Given the description of an element on the screen output the (x, y) to click on. 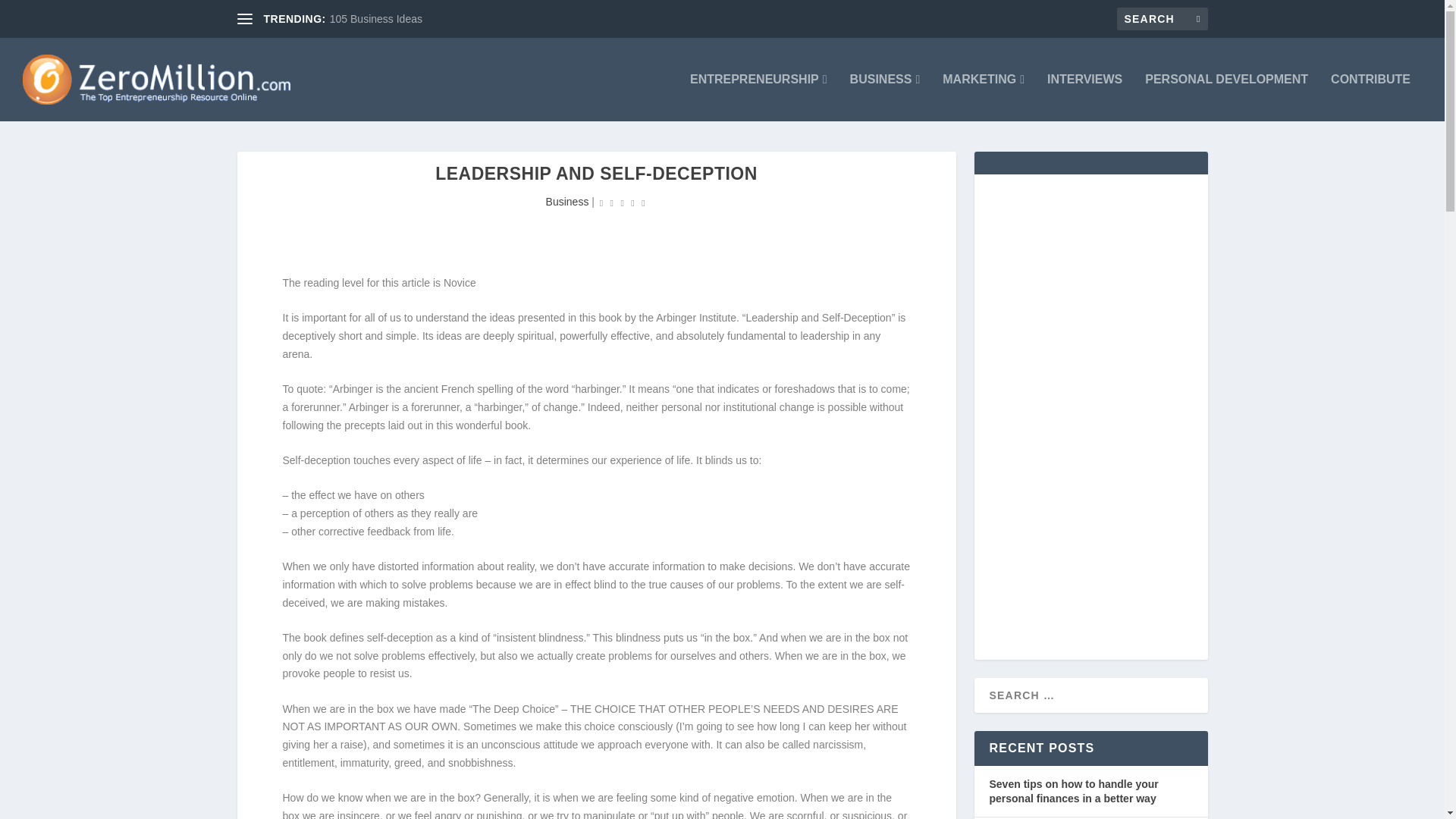
105 Business Ideas (376, 19)
ENTREPRENEURSHIP (758, 97)
Advertisement (512, 222)
CONTRIBUTE (1370, 97)
Business (567, 201)
MARKETING (983, 97)
INTERVIEWS (1084, 97)
PERSONAL DEVELOPMENT (1225, 97)
BUSINESS (885, 97)
Rating: 0.00 (621, 202)
Search for: (1161, 18)
